Given the description of an element on the screen output the (x, y) to click on. 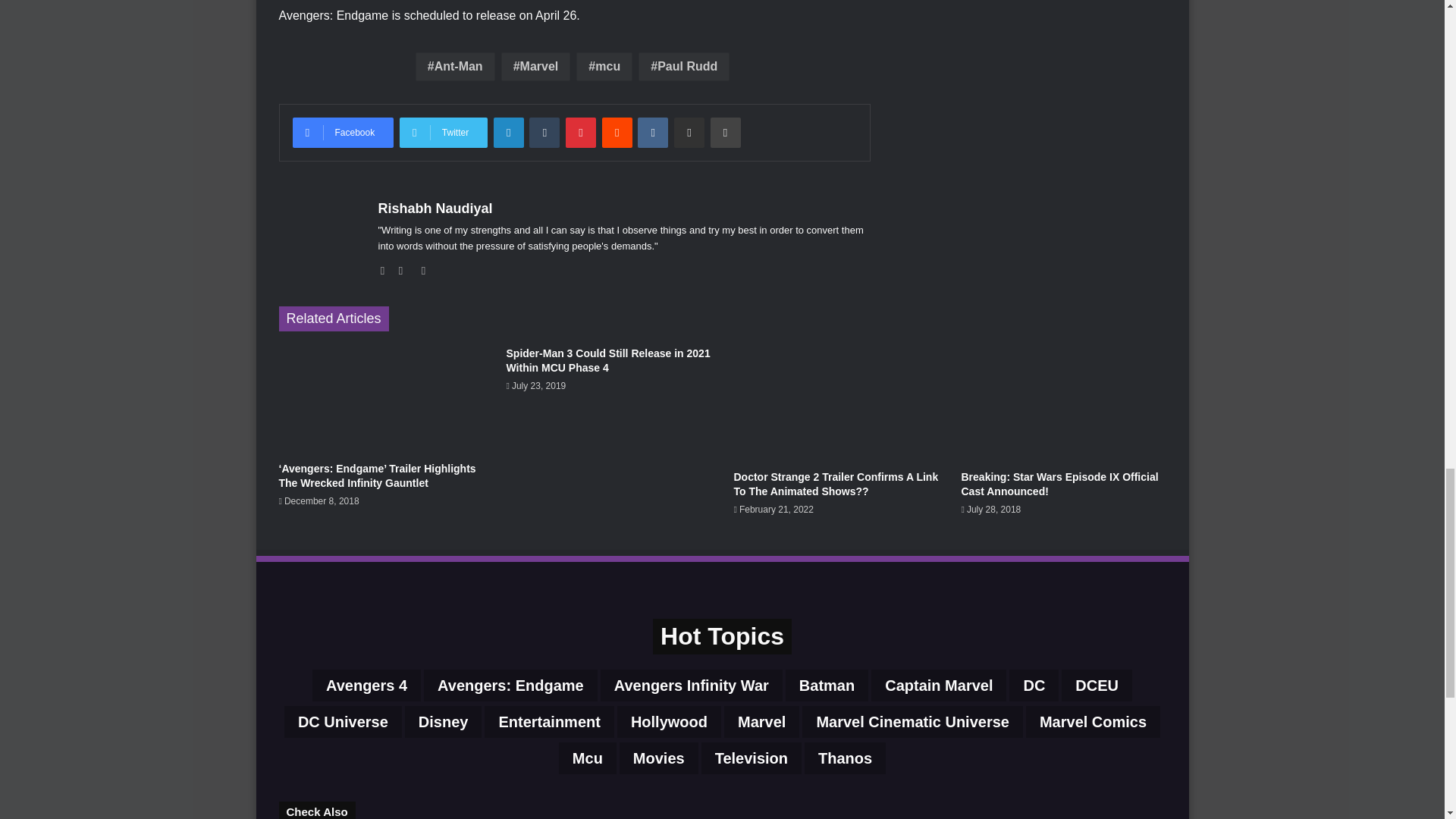
VKontakte (652, 132)
Share via Email (689, 132)
Facebook (343, 132)
Facebook (343, 132)
Share via Email (689, 132)
Ant-Man (454, 66)
Twitter (442, 132)
Print (725, 132)
Twitter (442, 132)
Pinterest (580, 132)
